Given the description of an element on the screen output the (x, y) to click on. 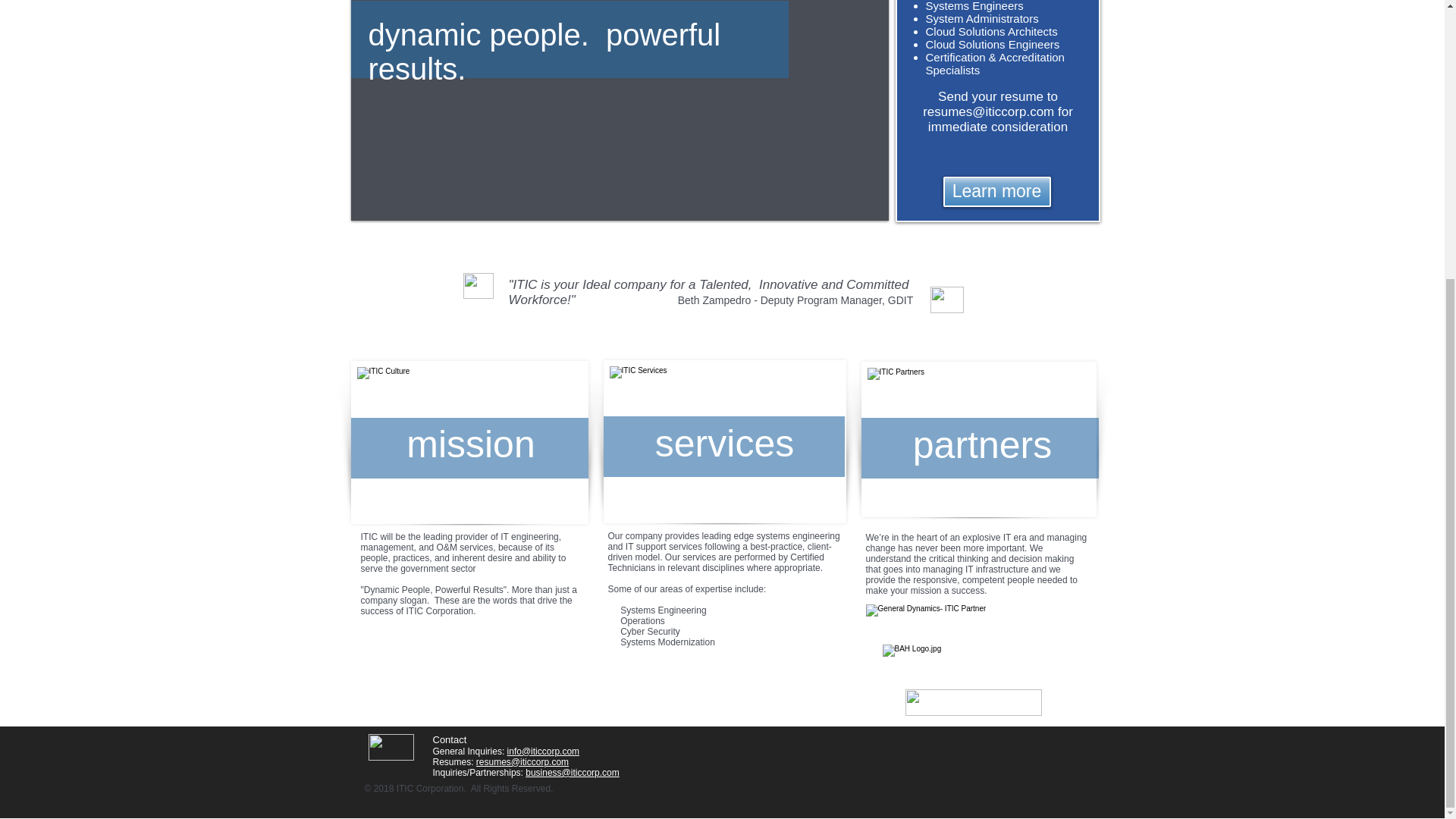
services (724, 443)
Learn more (997, 191)
